Given the description of an element on the screen output the (x, y) to click on. 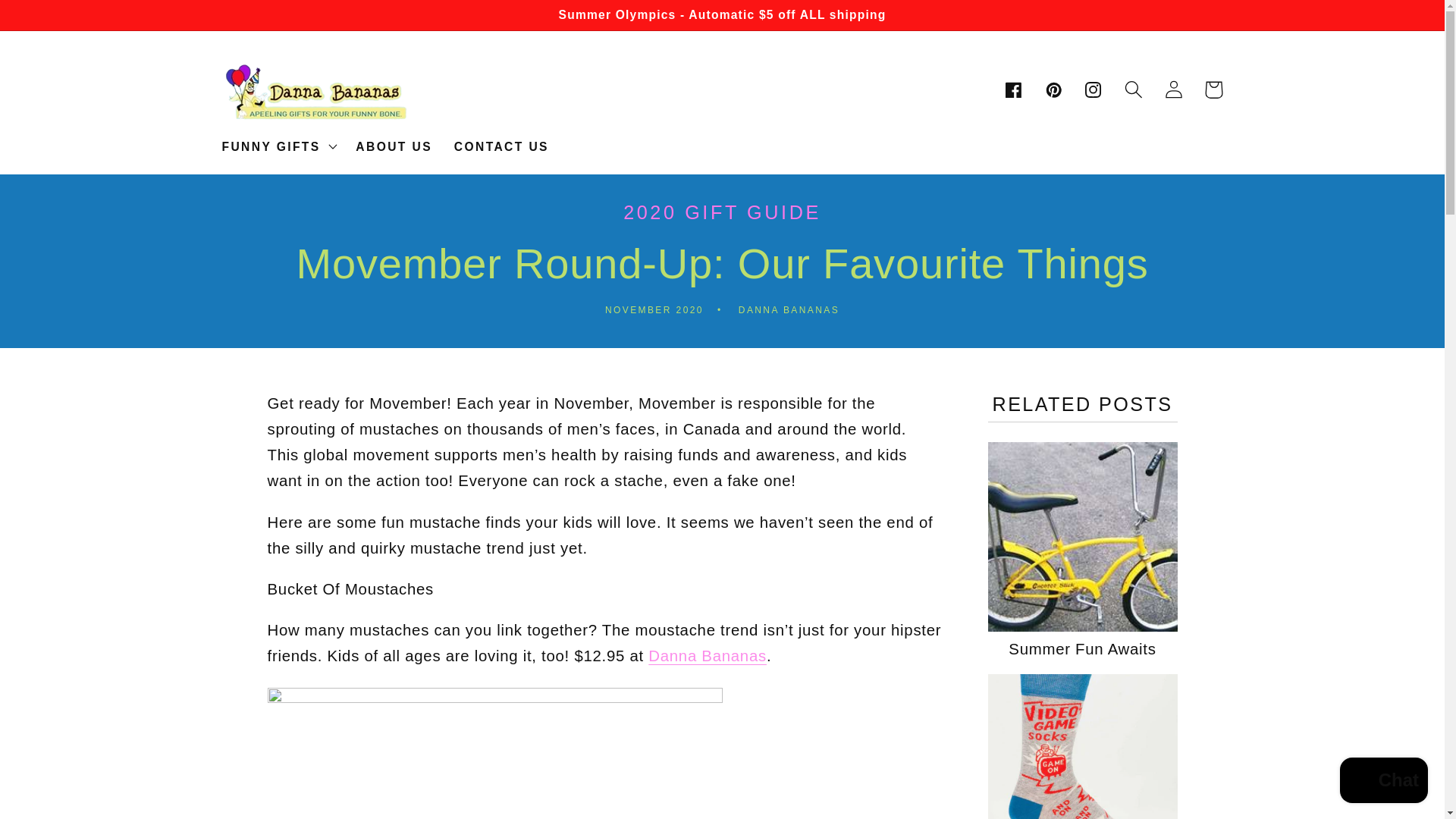
Instagram (1093, 89)
ABOUT US (393, 147)
SKIP TO CONTENT (53, 20)
CONTACT US (500, 147)
Cart (1213, 89)
Pinterest (1053, 89)
Danna Bananas (707, 655)
Log in (1173, 89)
2020 GIFT GUIDE (722, 211)
Facebook (1012, 89)
